Given the description of an element on the screen output the (x, y) to click on. 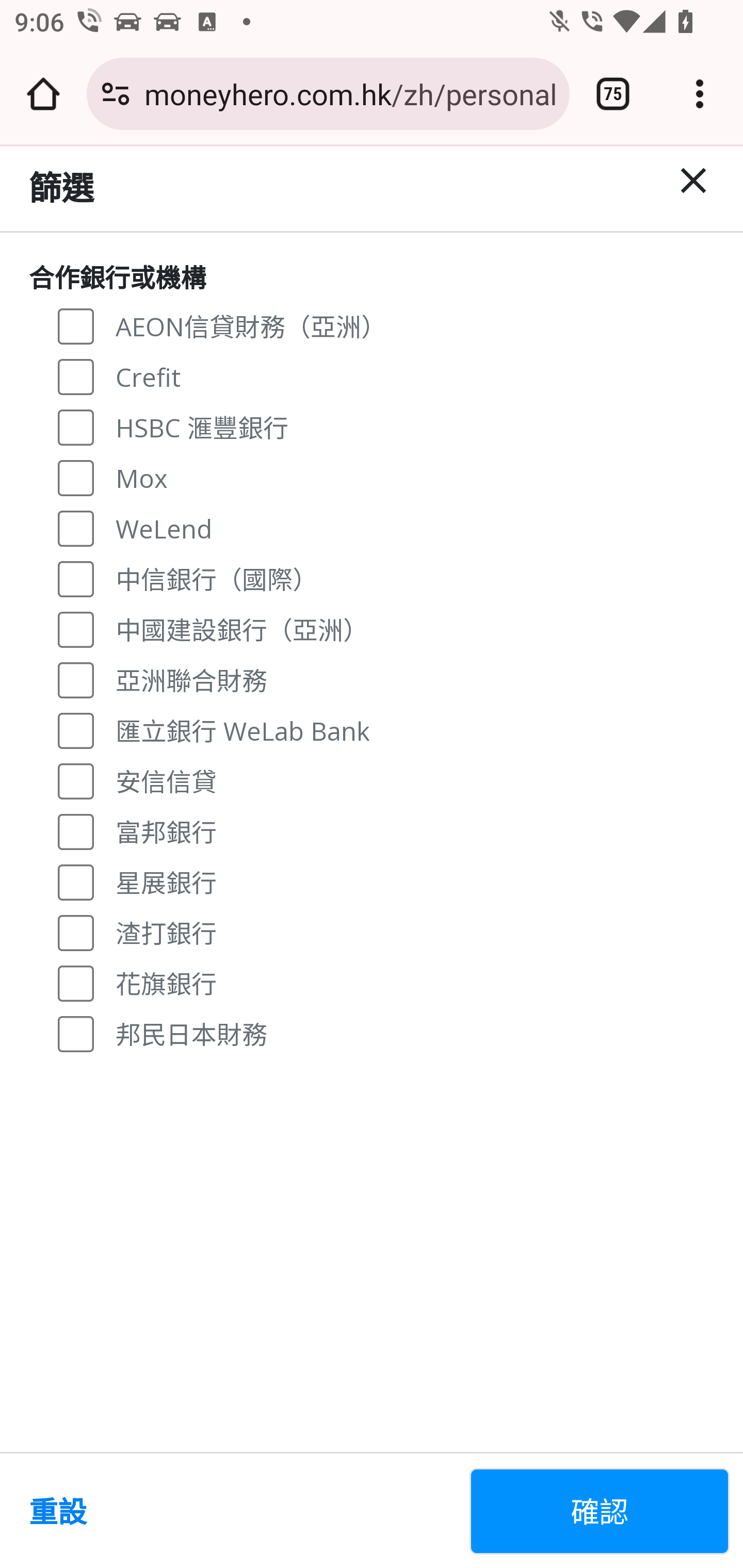
Open the home page (43, 93)
Connection is secure (115, 93)
Switch or close tabs (612, 93)
Customize and control Google Chrome (699, 93)
